Given the description of an element on the screen output the (x, y) to click on. 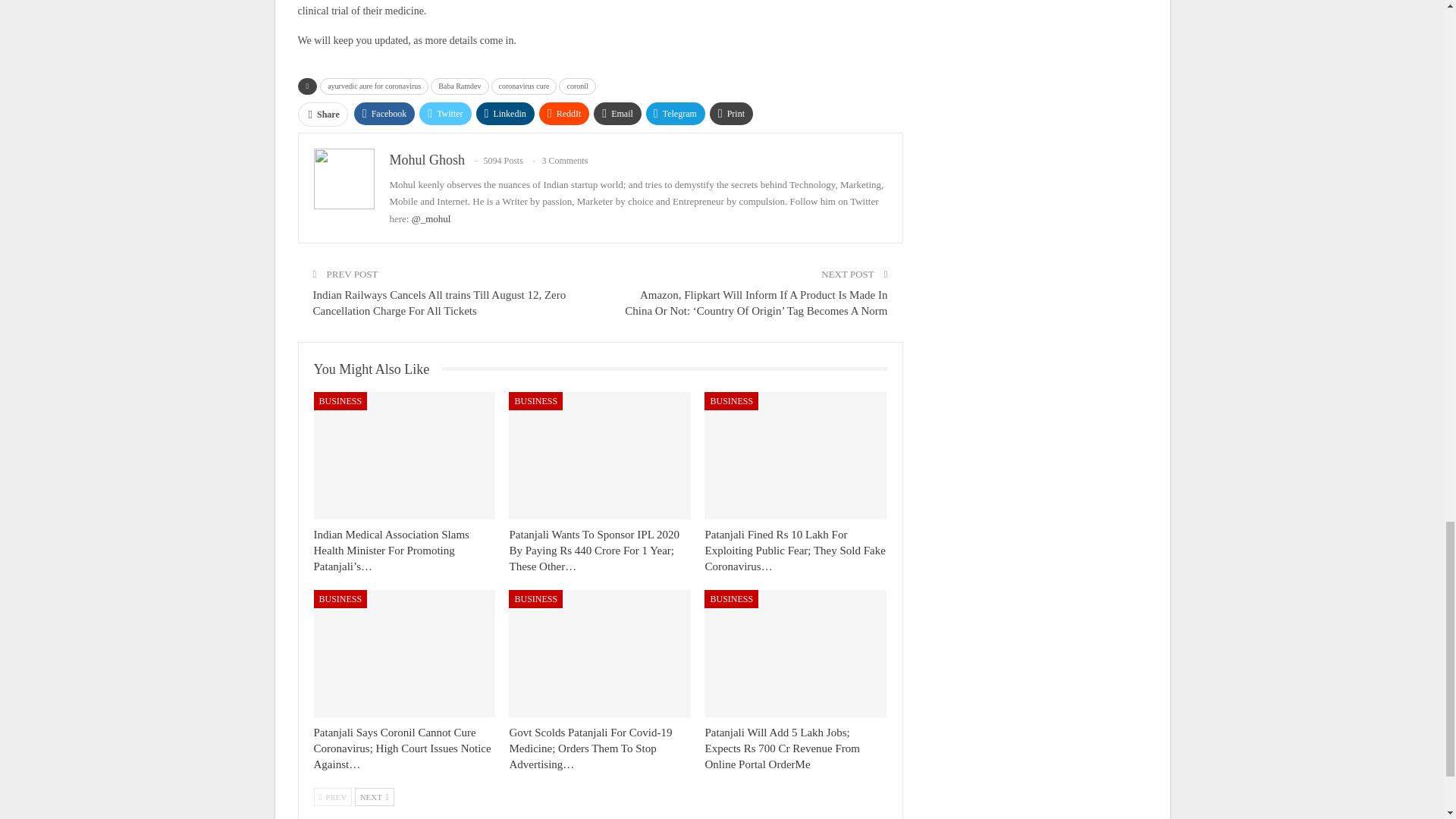
Baba Ramdev (458, 86)
coronavirus cure (524, 86)
ayurvedic aure for coronavirus (374, 86)
